Given the description of an element on the screen output the (x, y) to click on. 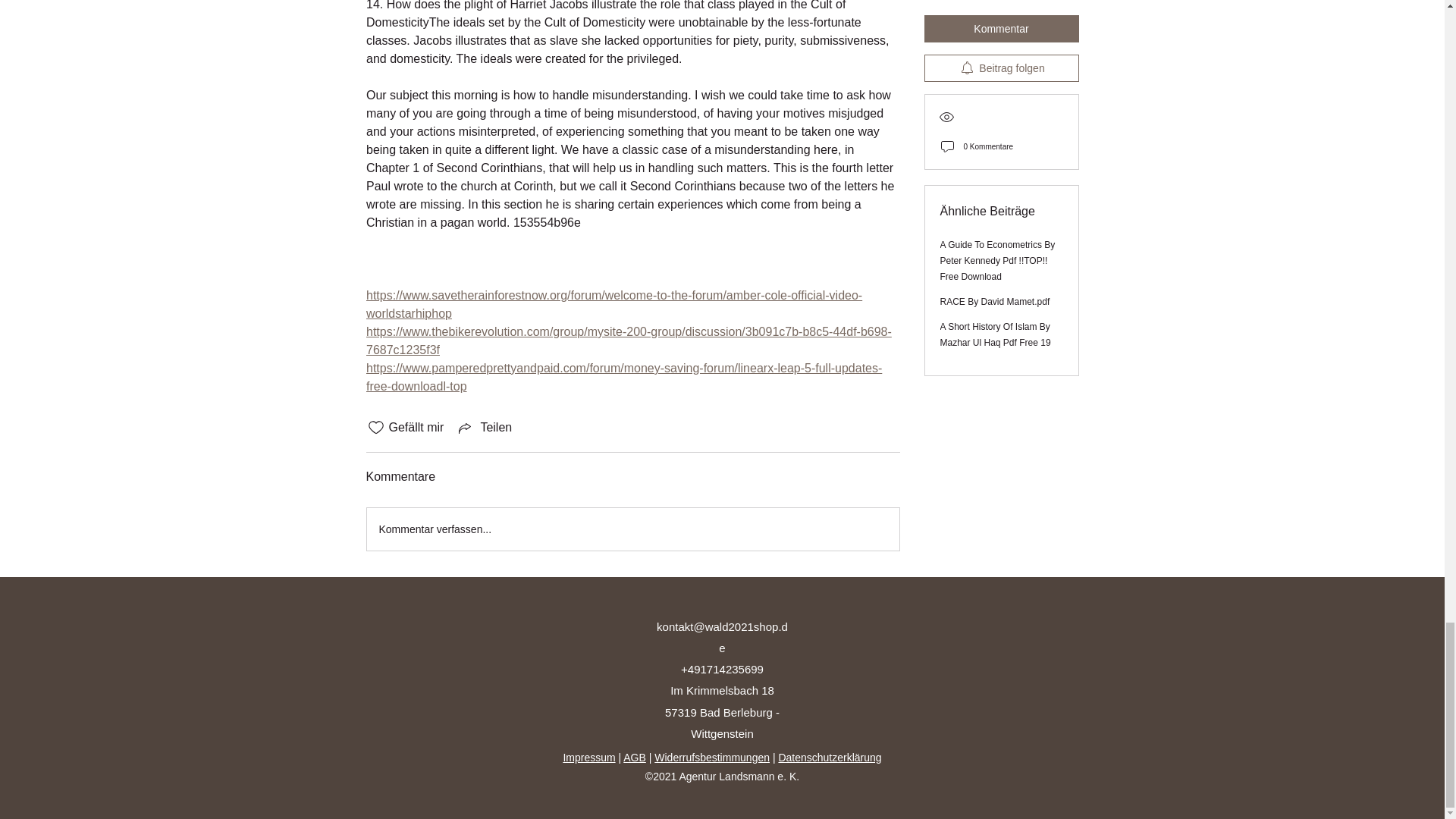
AGB (634, 757)
Widerrufsbestimmungen (711, 757)
Teilen (483, 427)
Impressum (588, 757)
Kommentar verfassen... (632, 528)
